Given the description of an element on the screen output the (x, y) to click on. 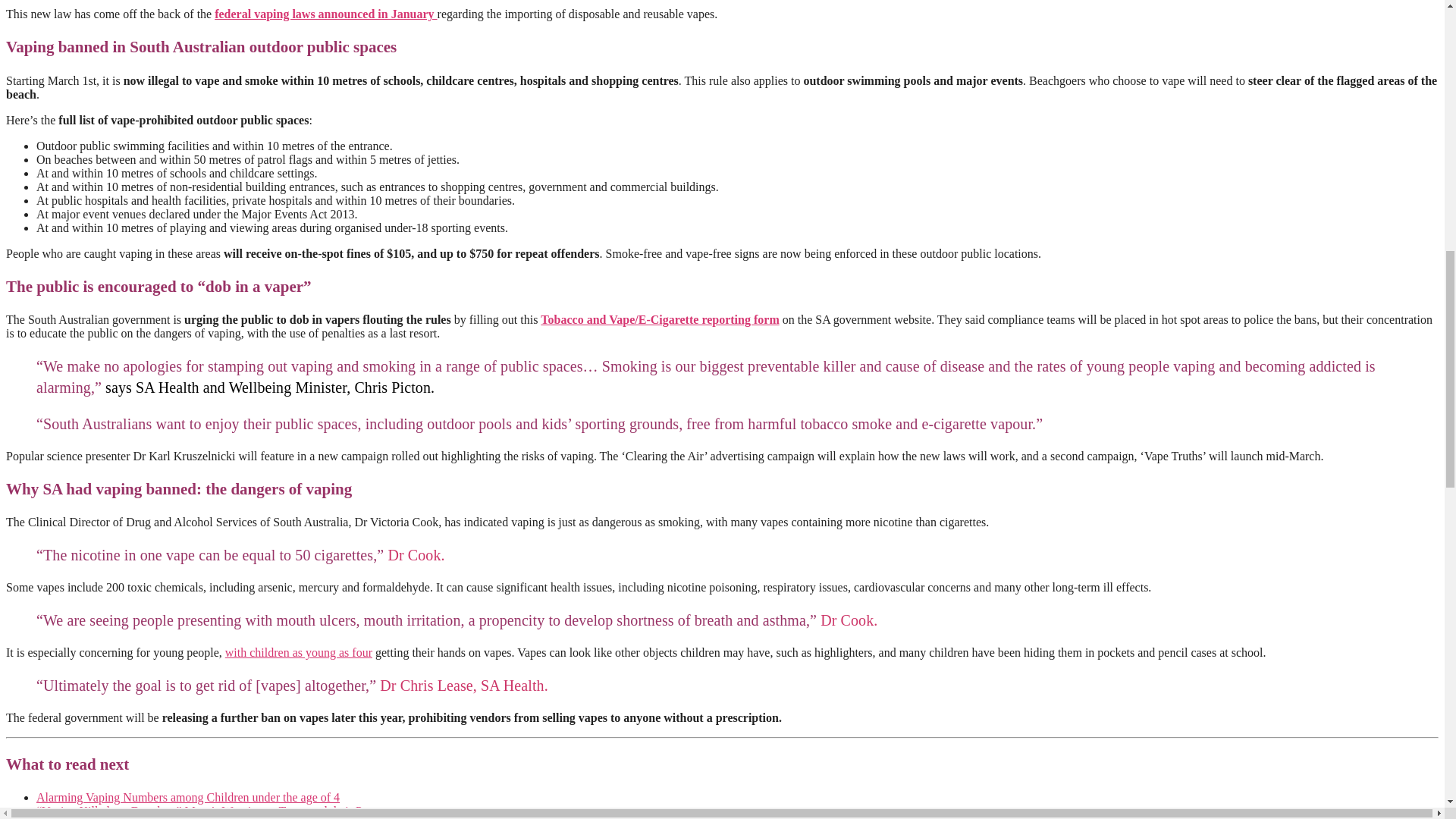
Alarming Vaping Numbers among Children under the age of 4 (187, 797)
